Given the description of an element on the screen output the (x, y) to click on. 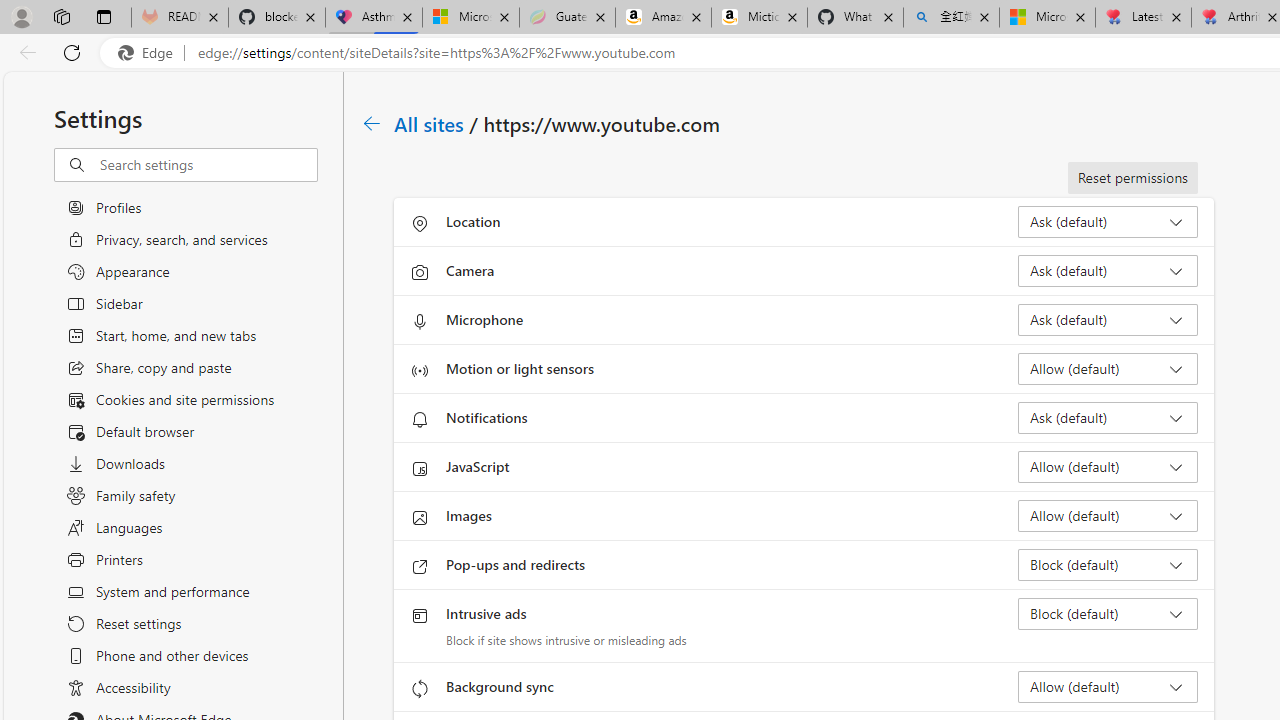
Pop-ups and redirects Block (default) (1107, 564)
Background sync Allow (default) (1107, 686)
Reset permissions (1132, 177)
Location Ask (default) (1107, 221)
Class: c01162 (371, 123)
Search settings (207, 165)
Camera Ask (default) (1107, 270)
Asthma Inhalers: Names and Types (374, 17)
Go back to All sites page. (372, 123)
Images Allow (default) (1107, 515)
